Given the description of an element on the screen output the (x, y) to click on. 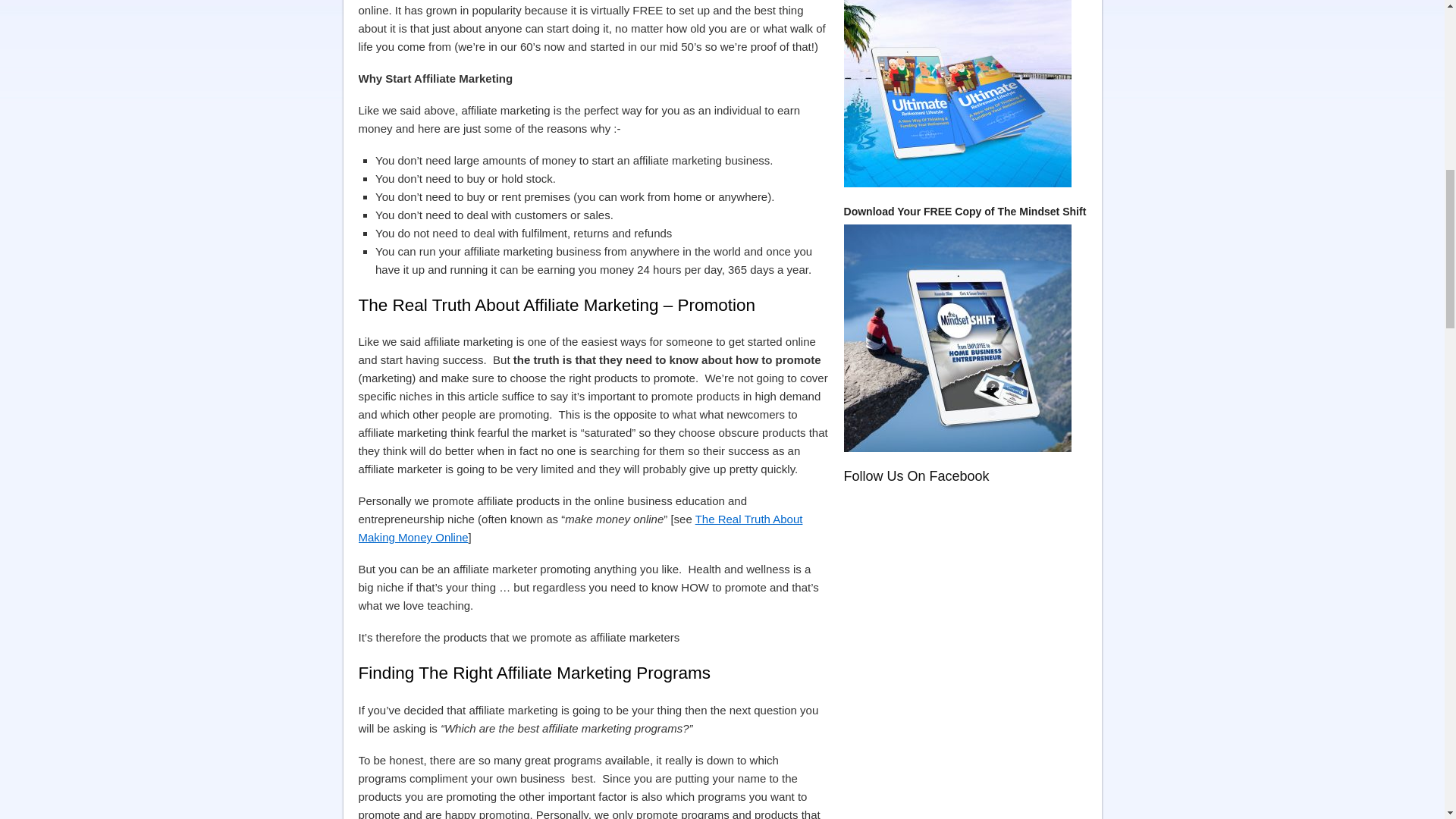
The Real Truth About Making Money Online (580, 527)
